Given the description of an element on the screen output the (x, y) to click on. 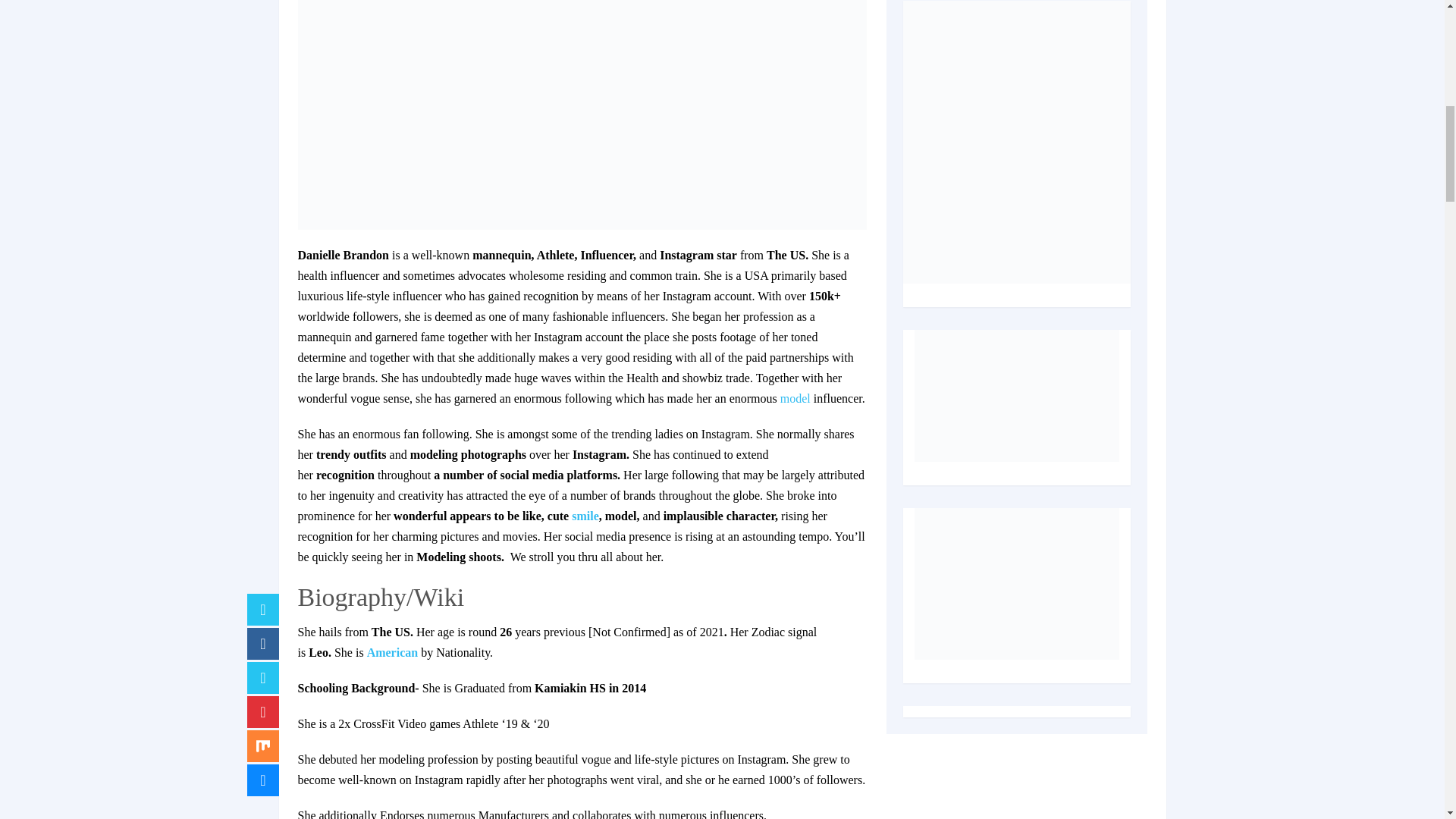
American (392, 652)
Antje Utgaard Wiki (795, 398)
model (795, 398)
Carlos Ponce Wiki (392, 652)
Joanna Page Wiki (585, 515)
smile (585, 515)
